Given the description of an element on the screen output the (x, y) to click on. 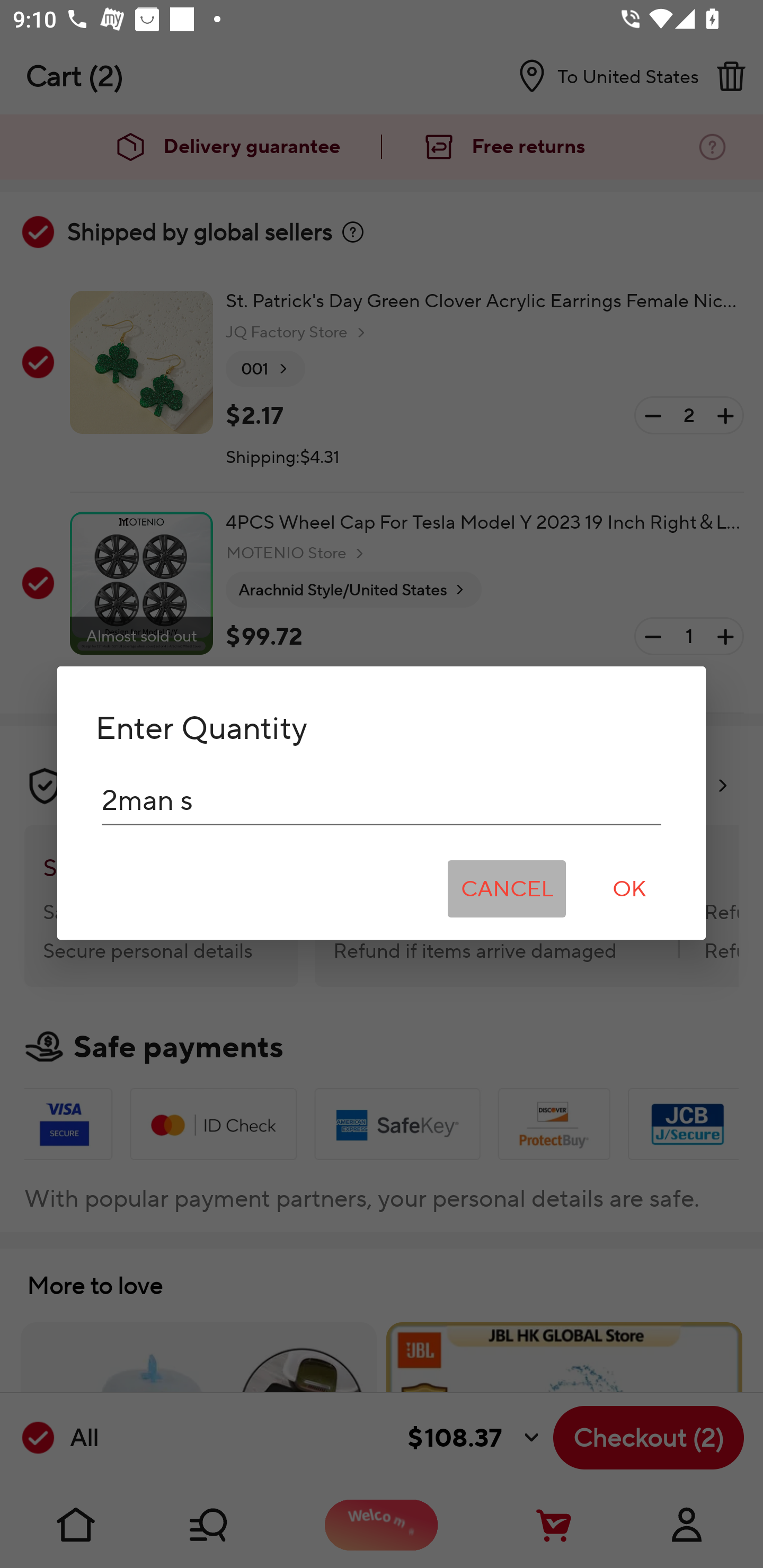
2man s (381, 800)
CANCEL (506, 888)
OK (629, 888)
